Given the description of an element on the screen output the (x, y) to click on. 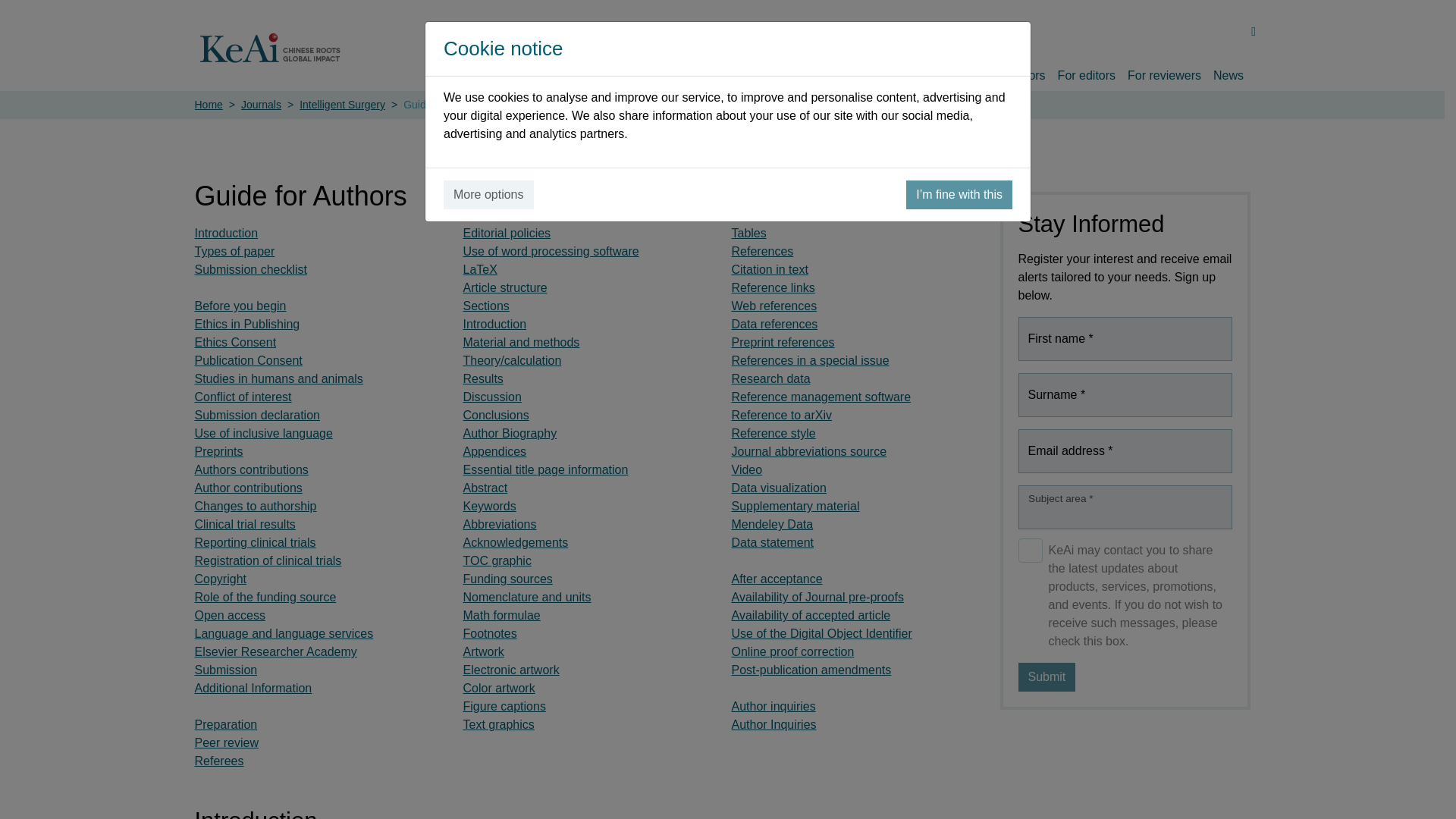
Journals (840, 72)
About us (782, 72)
Events (894, 72)
Submit (1046, 676)
For authors (1014, 72)
true (1029, 550)
Partners (947, 72)
For editors (1086, 72)
Home (729, 72)
KeAi Publishing (271, 47)
